Given the description of an element on the screen output the (x, y) to click on. 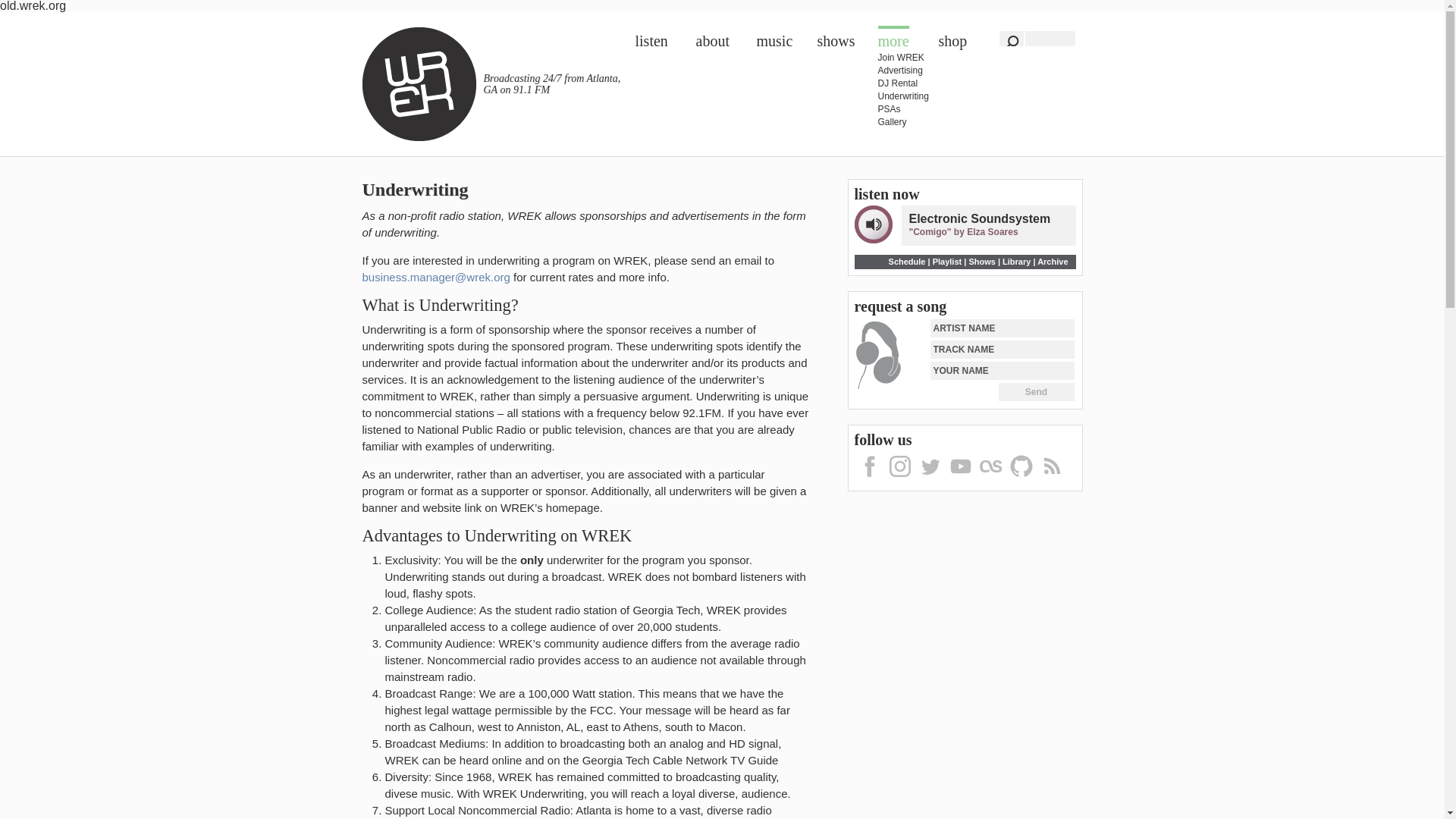
Join WREK (905, 57)
"Comigo" by Elza Soares (962, 231)
more (892, 36)
listen (651, 40)
DJ Rental (905, 82)
music (775, 40)
Facebook (868, 478)
Last.fm (990, 478)
YouTube (959, 478)
Instagram (898, 478)
shop (953, 40)
shows (836, 40)
GitHub (1020, 478)
Underwriting (905, 95)
Advertising (905, 70)
